Given the description of an element on the screen output the (x, y) to click on. 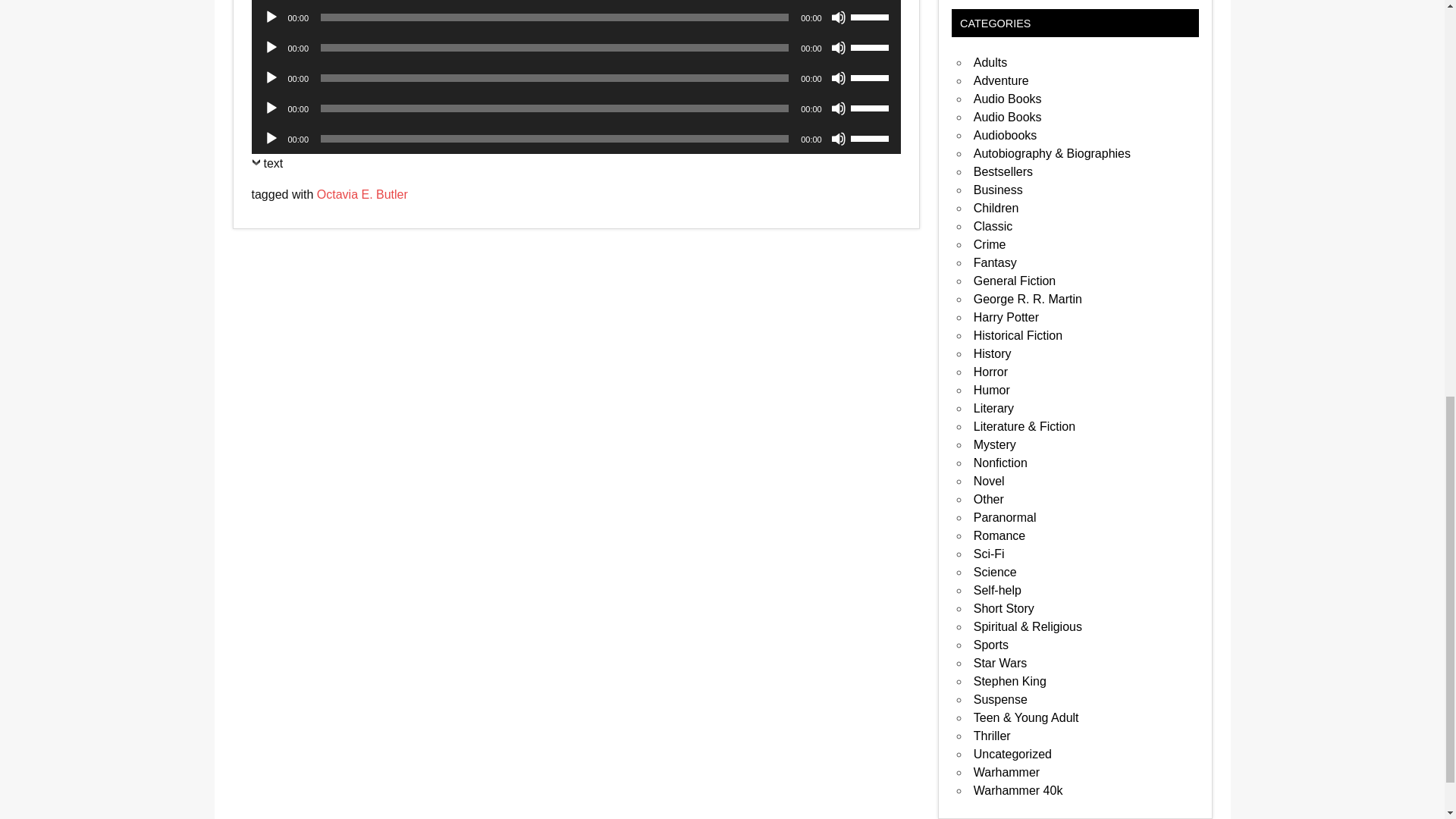
Play (271, 108)
Play (271, 17)
Mute (838, 17)
Mute (838, 77)
Play (271, 47)
Play (271, 77)
Mute (838, 47)
